Given the description of an element on the screen output the (x, y) to click on. 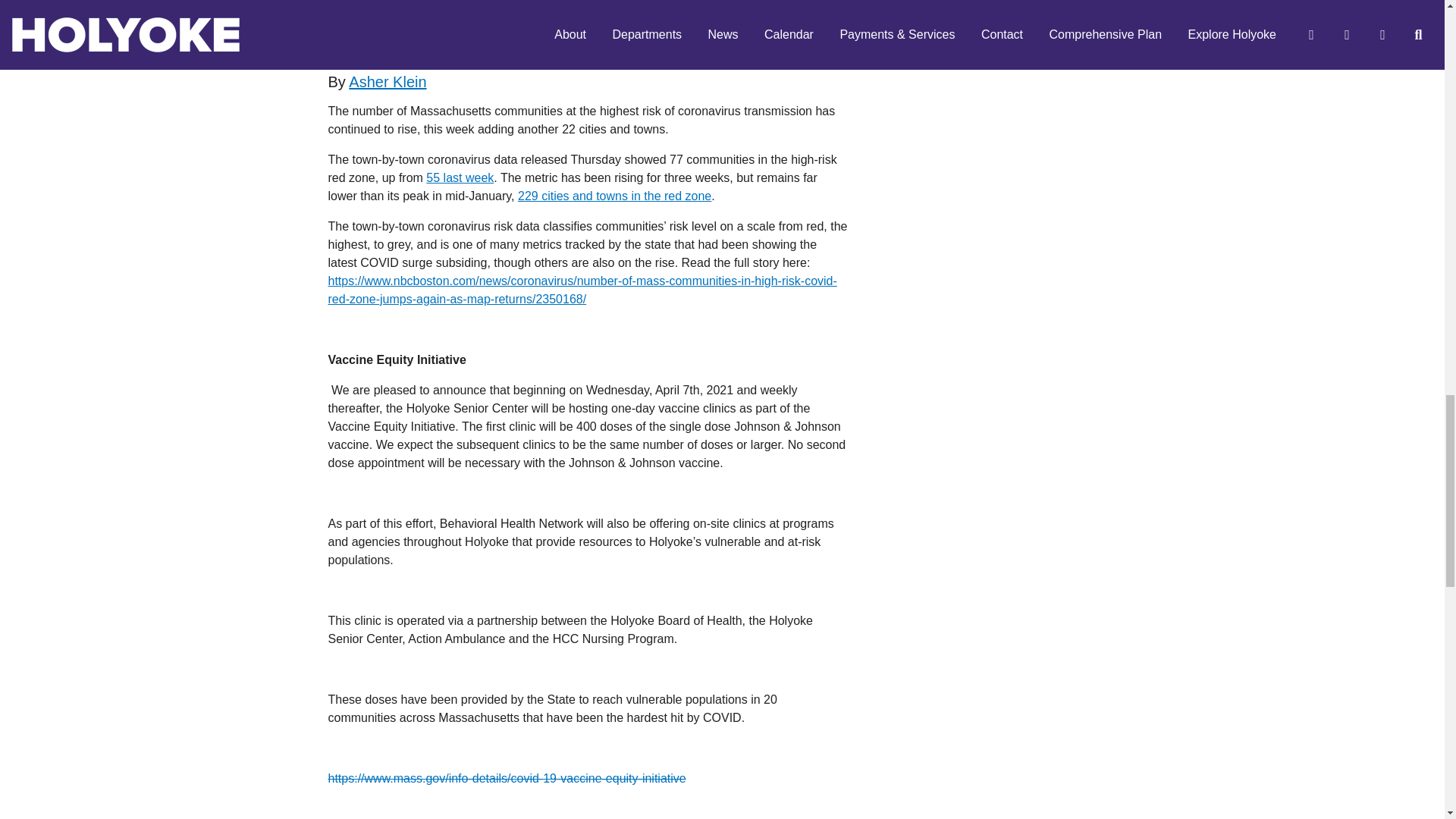
55 last week (459, 177)
229 cities and towns in the red zone (614, 195)
Asher Klein (387, 81)
